Given the description of an element on the screen output the (x, y) to click on. 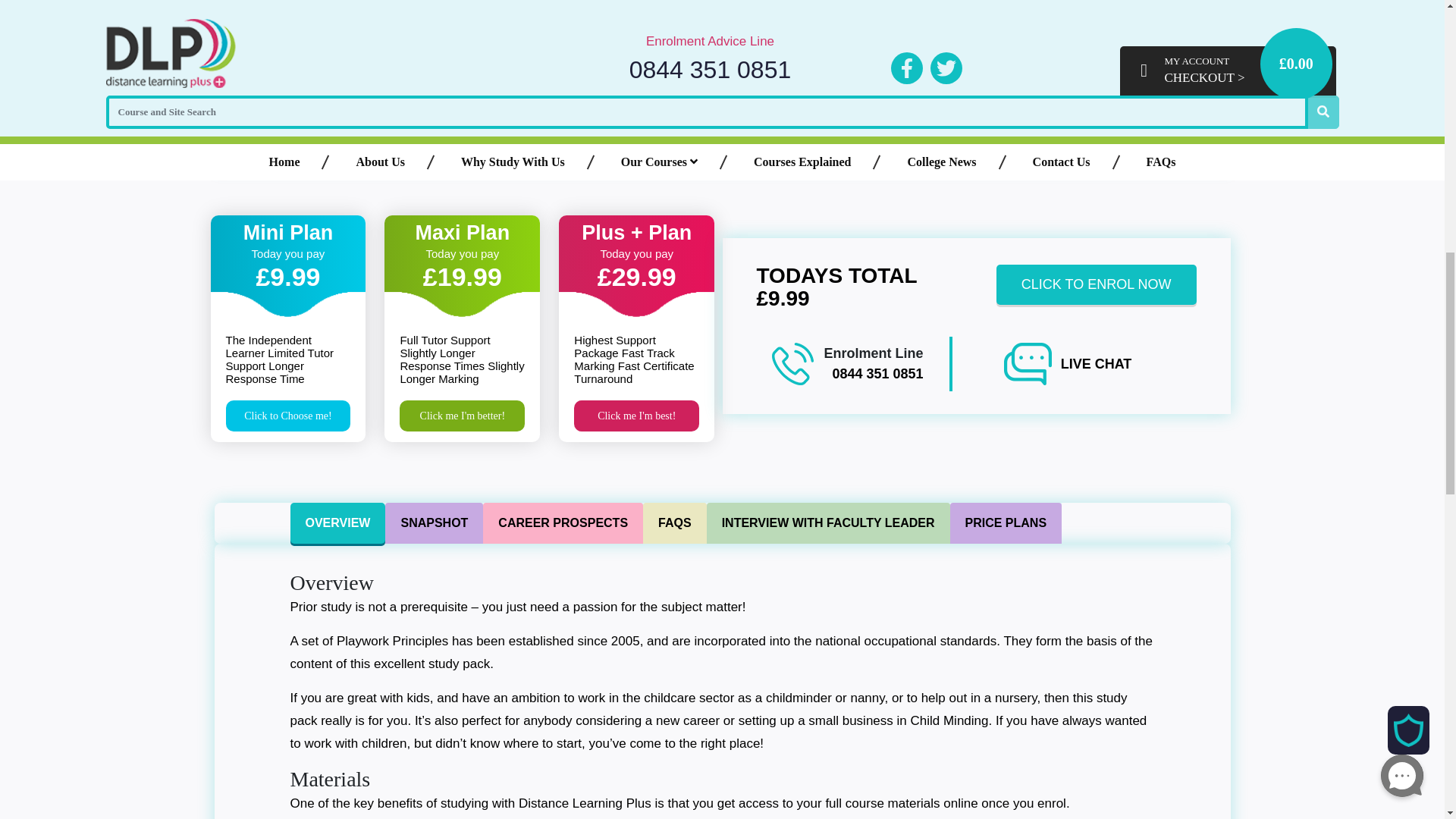
Submit Request (622, 105)
